Given the description of an element on the screen output the (x, y) to click on. 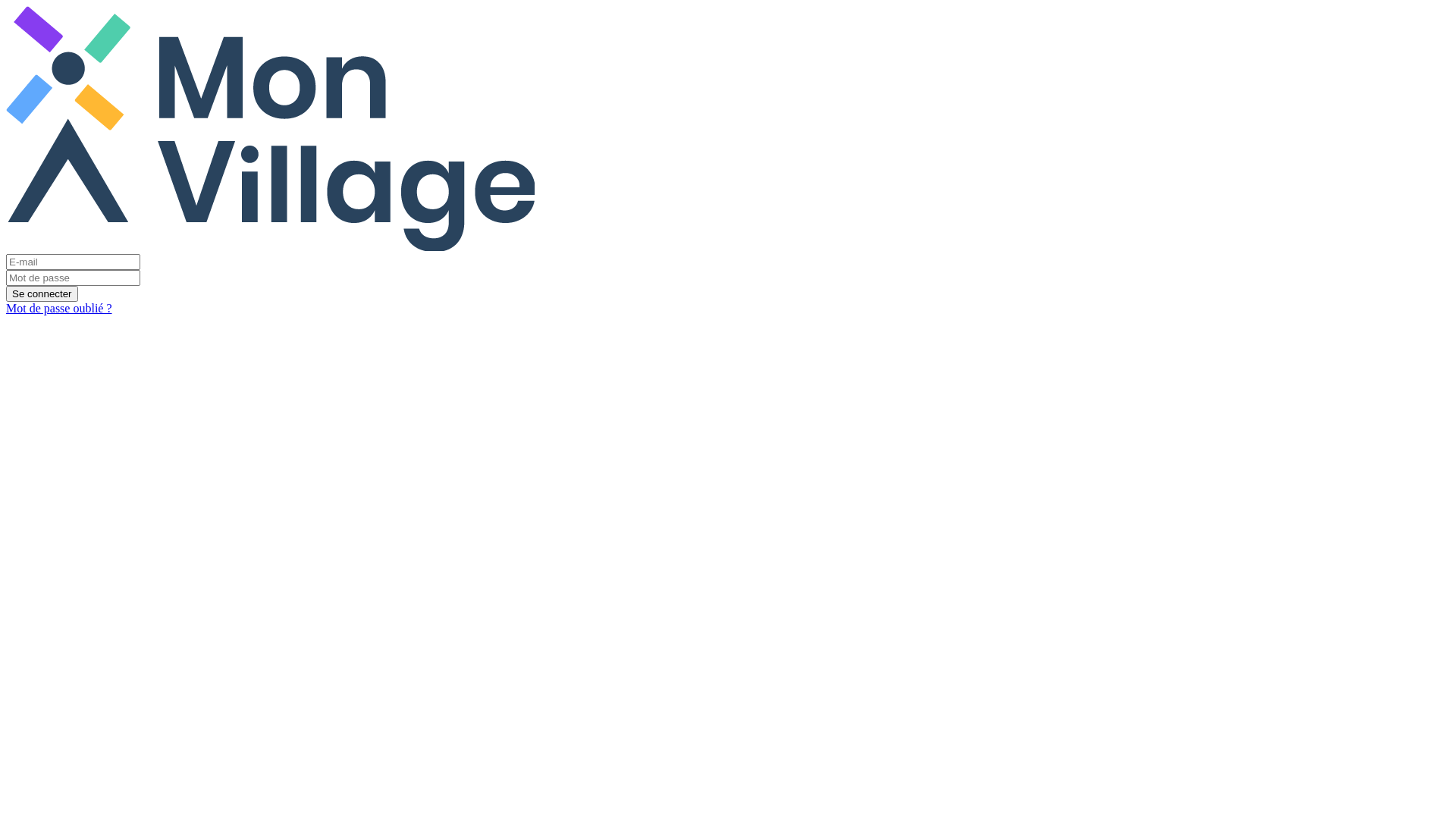
Se connecter Element type: text (42, 293)
